Given the description of an element on the screen output the (x, y) to click on. 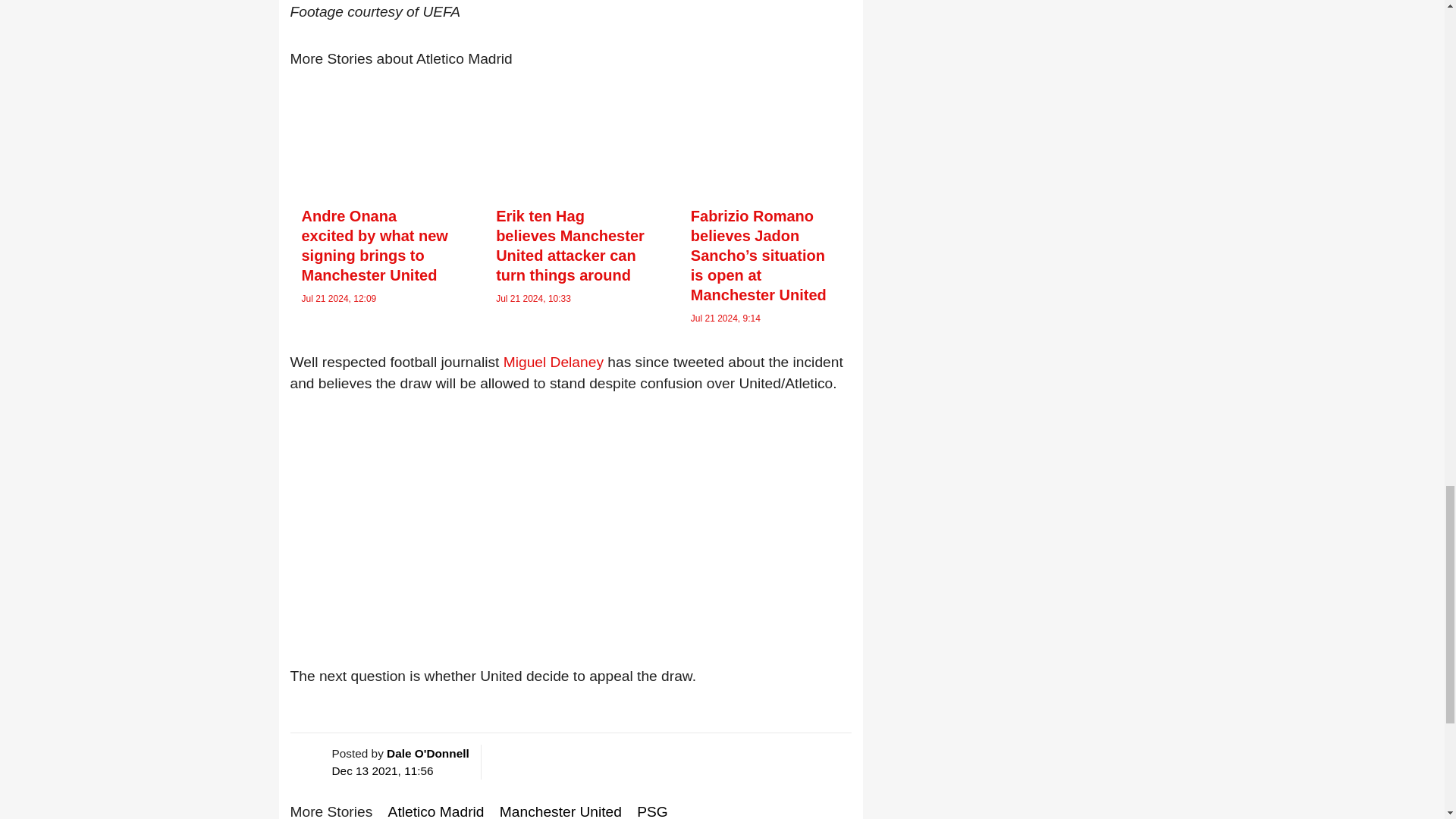
Jul 21 2024, 10:33 (533, 298)
Jul 21 2024, 12:09 (339, 298)
Miguel Delaney (553, 361)
Jul 21 2024, 9:14 (725, 317)
